Given the description of an element on the screen output the (x, y) to click on. 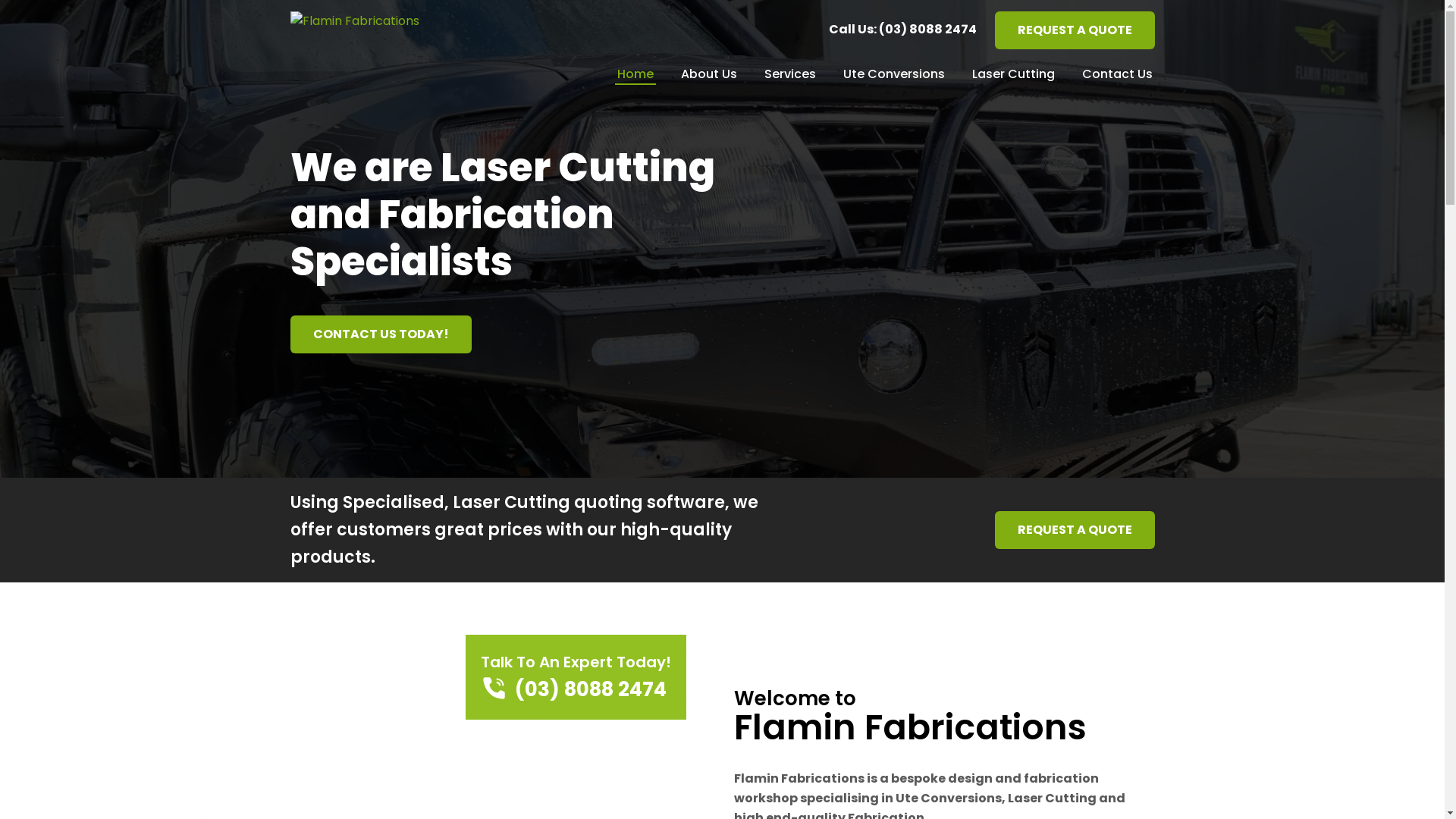
CONTACT US TODAY! Element type: text (379, 334)
Home Element type: text (634, 75)
REQUEST A QUOTE Element type: text (1074, 30)
(03) 8088 2474 Element type: text (575, 689)
REQUEST A QUOTE Element type: text (1074, 530)
Contact Us Element type: text (1116, 75)
About Us Element type: text (707, 75)
Call Us: (03) 8088 2474 Element type: text (903, 28)
Ute Conversions Element type: text (893, 75)
Services Element type: text (789, 75)
Laser Cutting Element type: text (1012, 75)
